Given the description of an element on the screen output the (x, y) to click on. 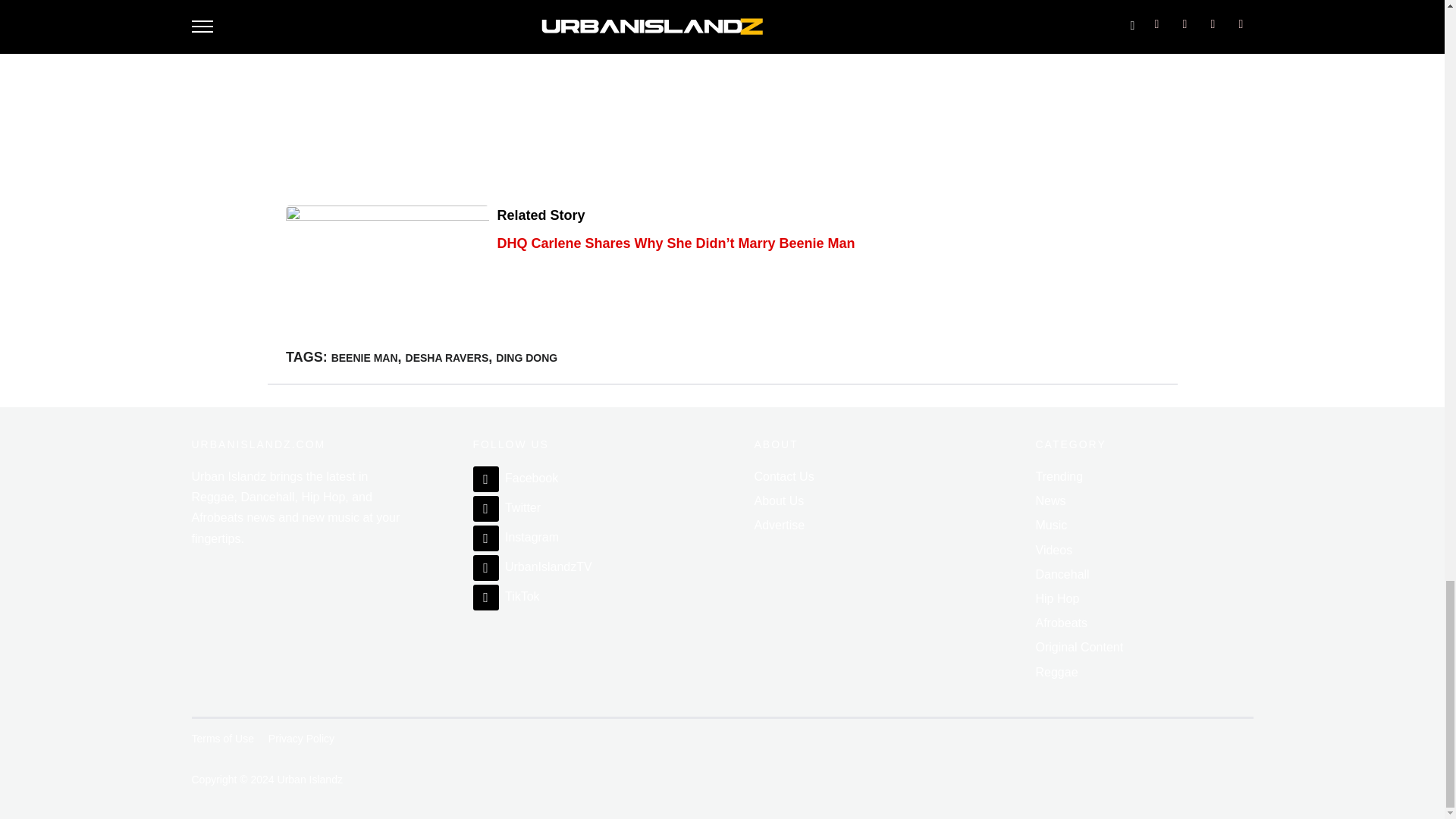
Facebook (516, 477)
DING DONG (526, 357)
Instagram (516, 536)
DESHA RAVERS (447, 357)
UrbanIslandzTV (532, 566)
Twitter (507, 507)
BEENIE MAN (364, 357)
